Given the description of an element on the screen output the (x, y) to click on. 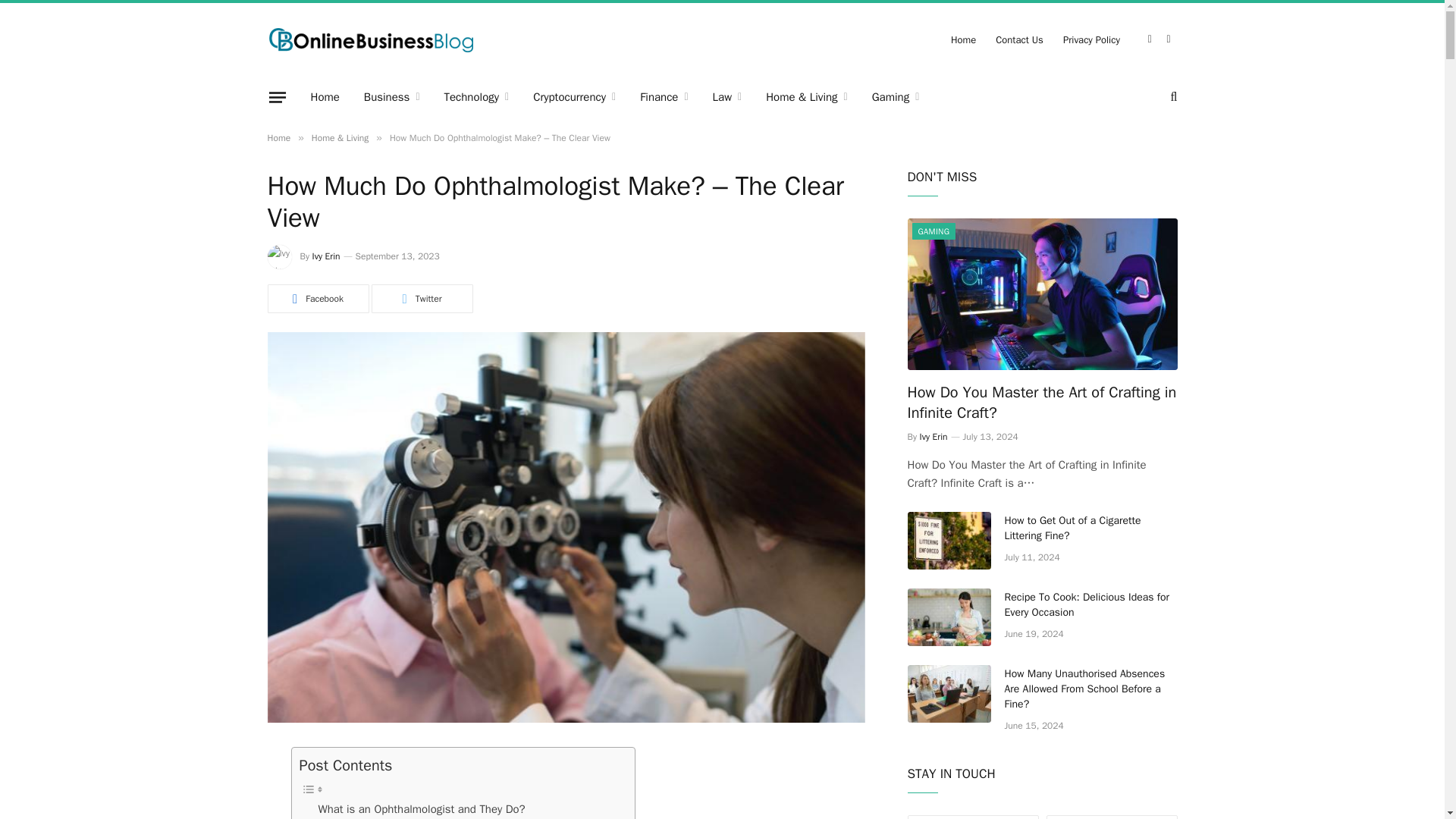
Business (392, 96)
Privacy Policy (1090, 39)
Home (325, 96)
Contact Us (1018, 39)
Online Business Blog (369, 39)
